Given the description of an element on the screen output the (x, y) to click on. 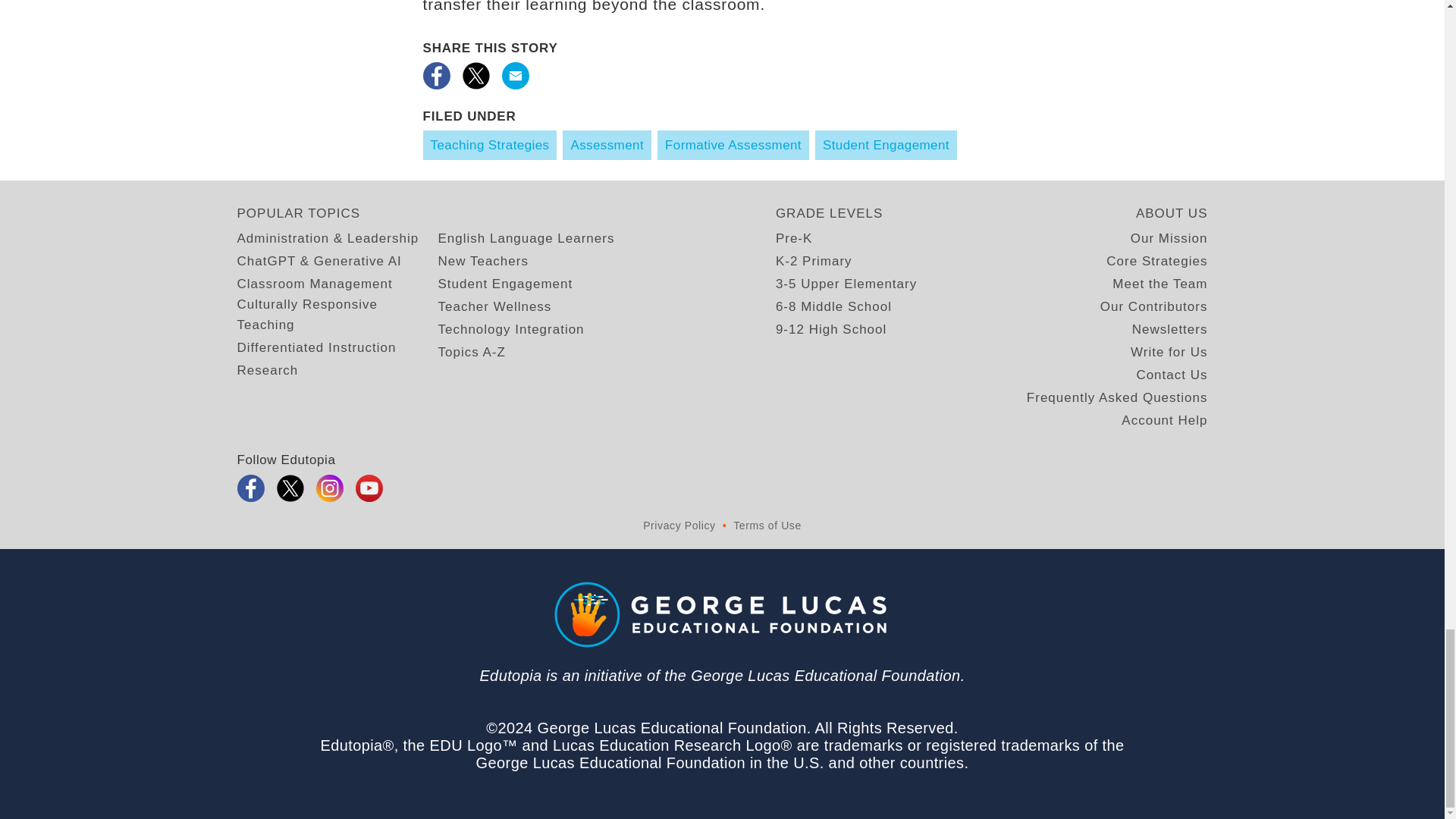
Assessment (606, 144)
English Language Learners (526, 238)
New Teachers (483, 260)
Differentiated Instruction (315, 347)
Student Engagement (505, 283)
Formative Assessment (733, 144)
Culturally Responsive Teaching (336, 314)
Student Engagement (885, 144)
Teaching Strategies (490, 144)
Classroom Management (313, 283)
